Given the description of an element on the screen output the (x, y) to click on. 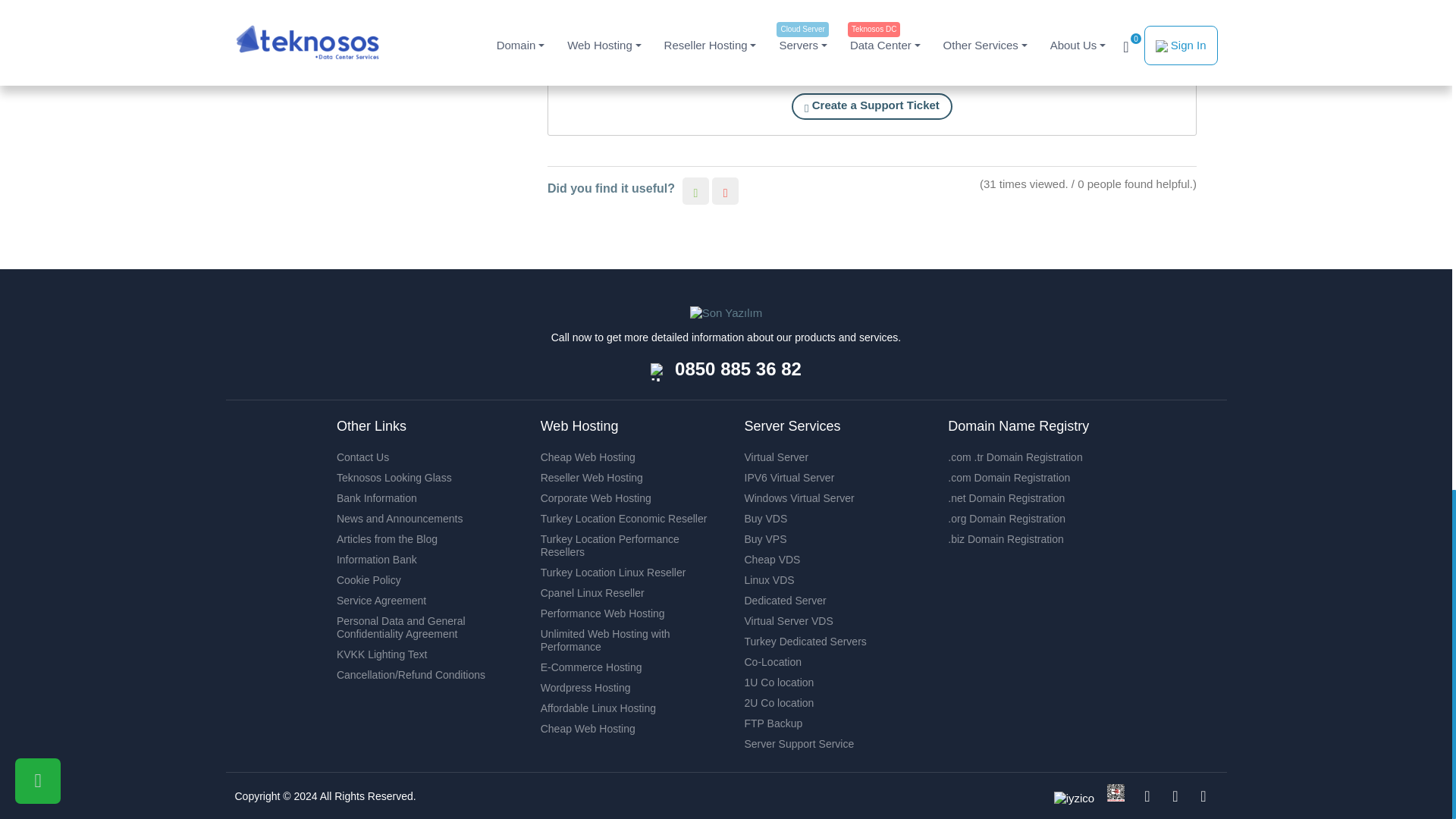
Twitter (1202, 795)
No, it didn't work! (724, 190)
Instagram (1175, 795)
Facebook (1146, 795)
Yes, I found it useful. (695, 190)
